Given the description of an element on the screen output the (x, y) to click on. 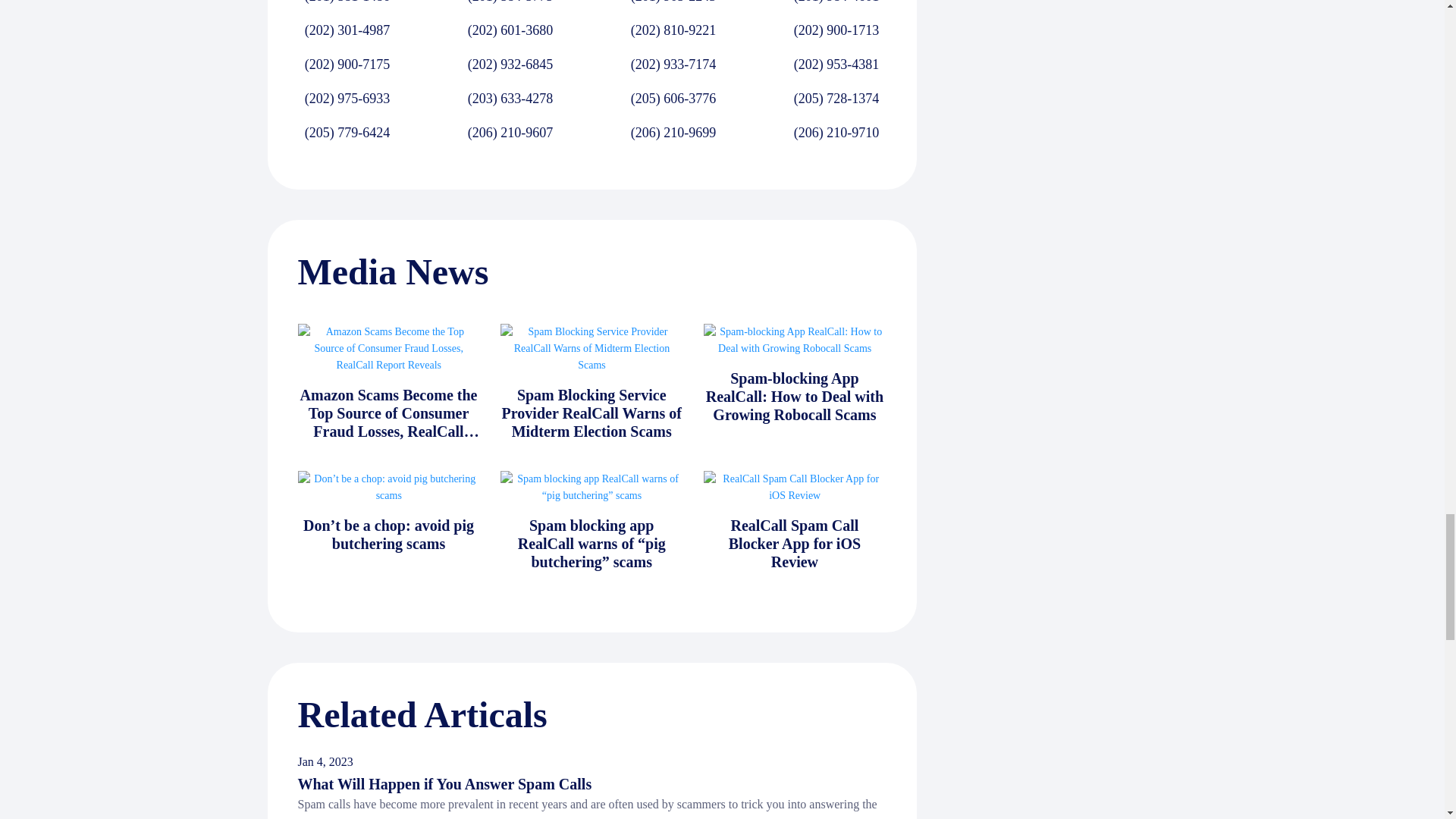
RealCall Spam Call Blocker App for iOS Review (794, 543)
